Given the description of an element on the screen output the (x, y) to click on. 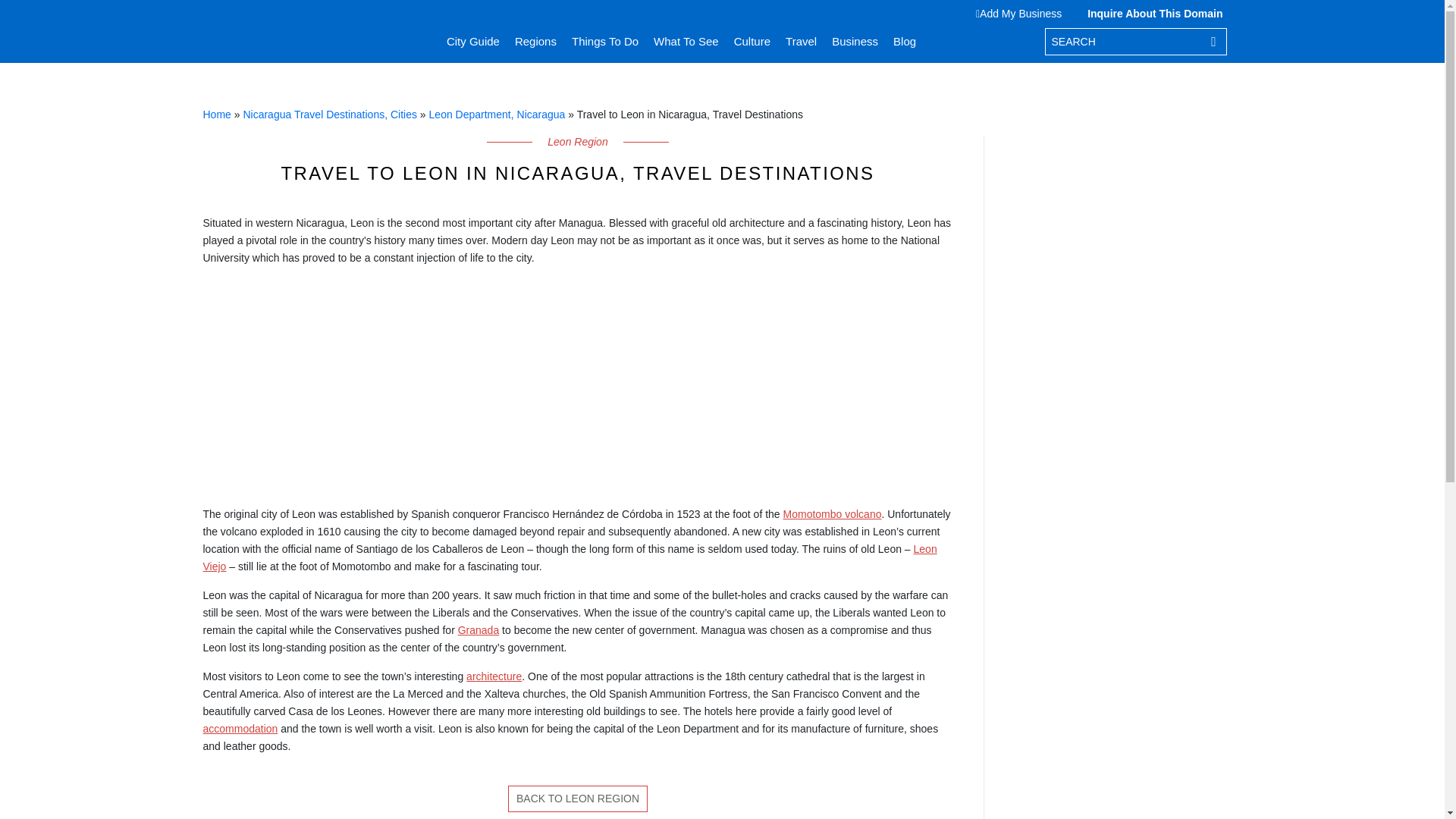
Leon Region (577, 798)
What To See (686, 41)
City Guide (472, 41)
Inquire About This Domain (1150, 13)
Business (854, 41)
Culture (751, 41)
Visit the Ruins of Leon Viejo (570, 557)
Architecture of Nicaragua (493, 676)
Accommodation Options in Nicaragua (240, 728)
Travel (801, 41)
Regions (535, 41)
Add My Business (1021, 13)
A Day Trip to Granada (478, 630)
Things To Do (605, 41)
Volcanoes of Nicaragua (832, 513)
